Given the description of an element on the screen output the (x, y) to click on. 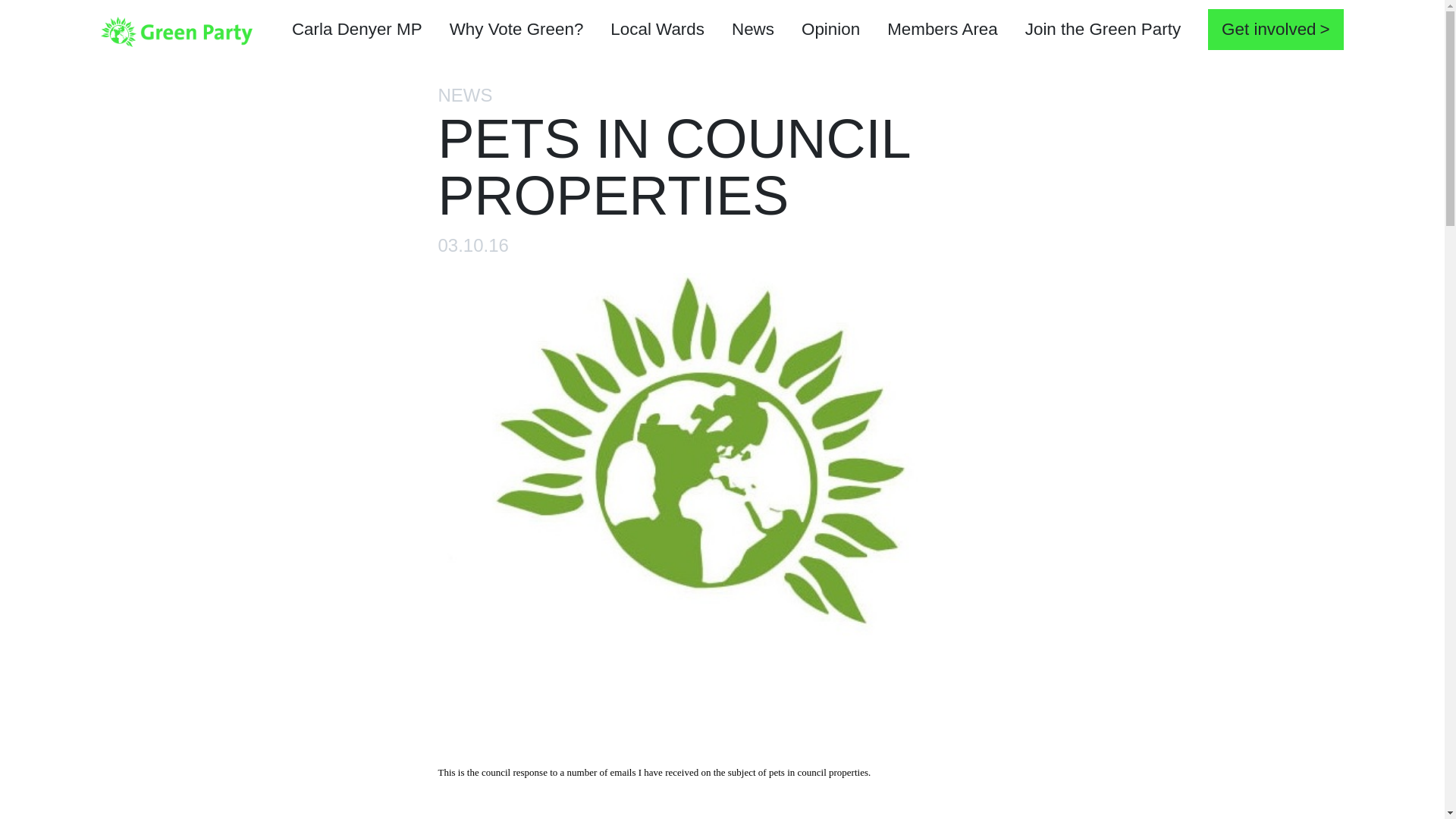
Get involved (1275, 29)
Opinion (830, 31)
Join the Green Party (1102, 31)
Why Vote Green? (515, 31)
Members Area (942, 31)
News (752, 31)
Carla Denyer MP (356, 31)
Local Wards (656, 31)
Green Party Logo (175, 30)
